Given the description of an element on the screen output the (x, y) to click on. 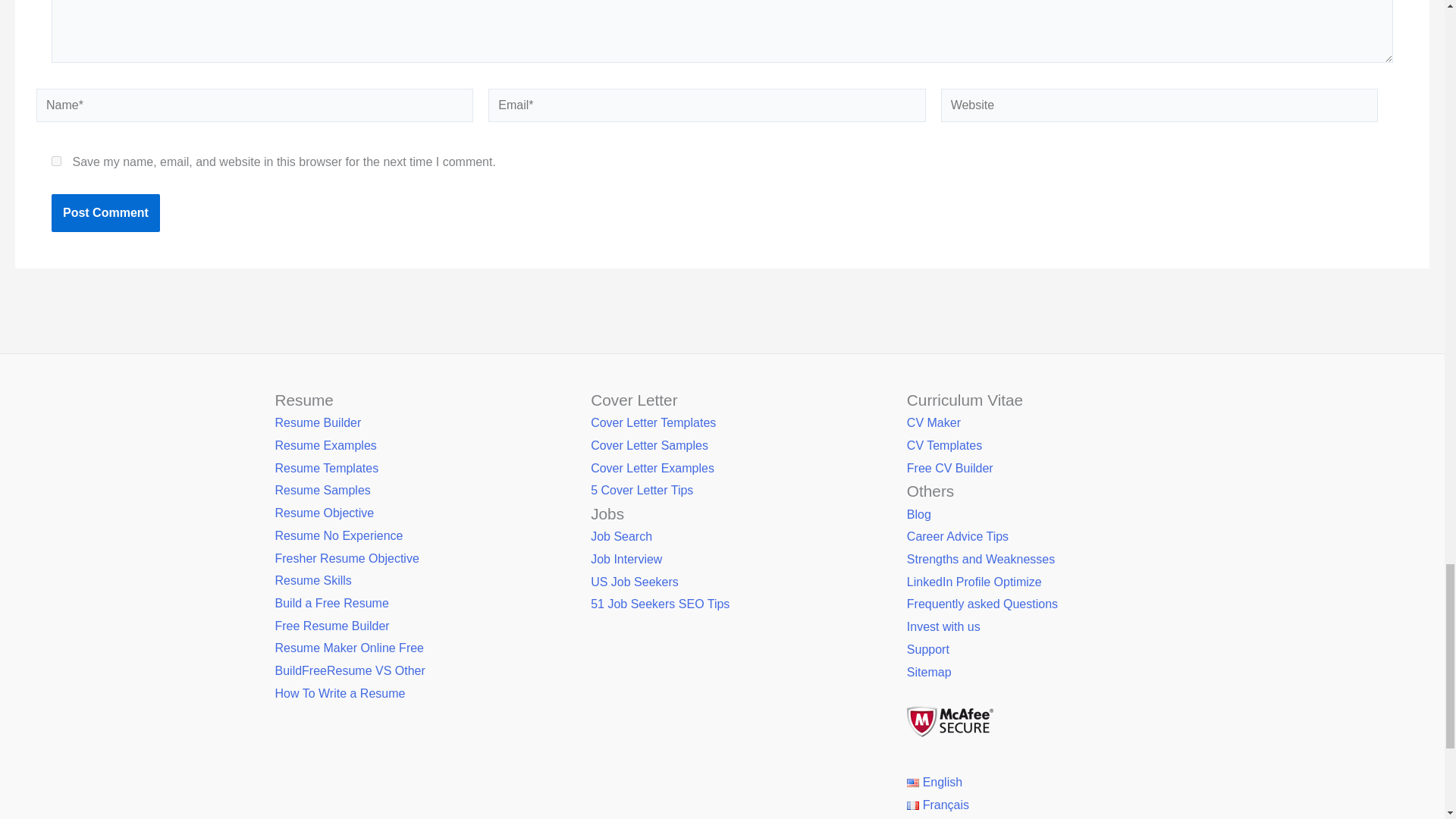
yes (55, 161)
Post Comment (105, 212)
build free resume mcafee secure (949, 721)
